Given the description of an element on the screen output the (x, y) to click on. 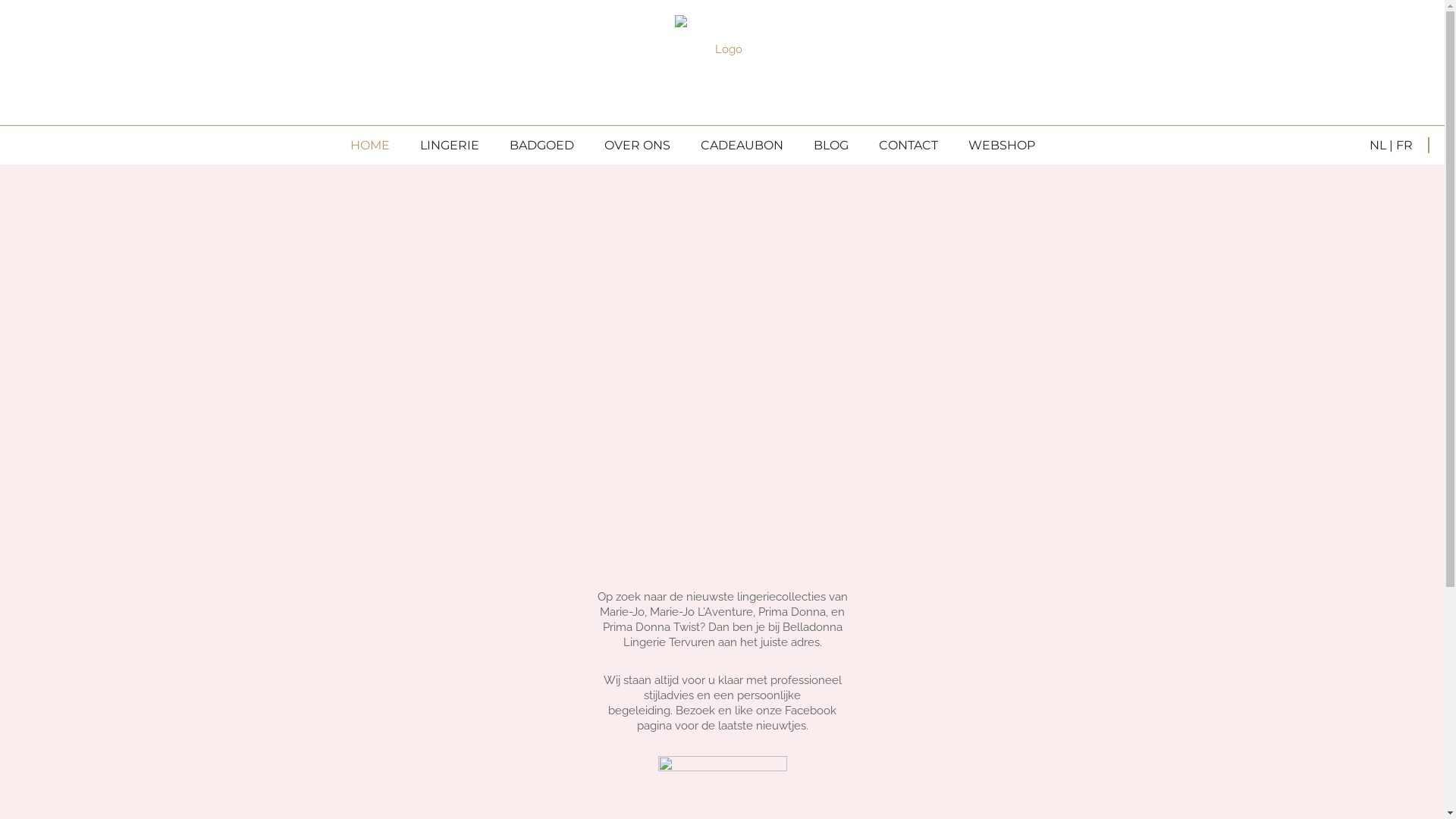
CADEAUBON Element type: text (741, 145)
LINGERIE Element type: text (449, 145)
BADGOED Element type: text (541, 145)
BLOG Element type: text (829, 145)
HOME Element type: text (369, 145)
WEBSHOP Element type: text (993, 145)
FR Element type: text (1404, 145)
CONTACT Element type: text (907, 145)
OVER ONS Element type: text (636, 145)
NL Element type: text (1377, 145)
